Given the description of an element on the screen output the (x, y) to click on. 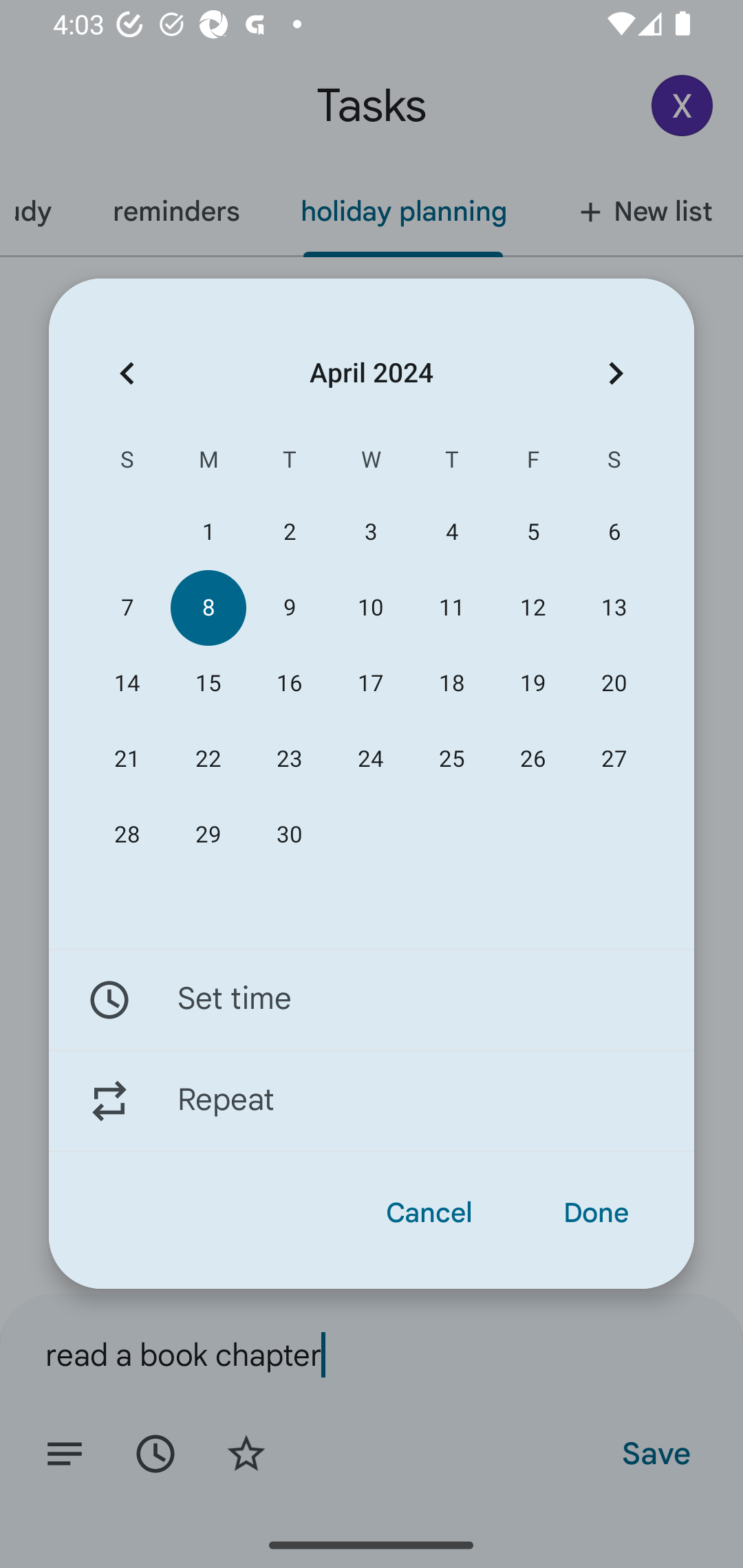
Previous month (126, 372)
Next month (615, 372)
1 01 April 2024 (207, 531)
2 02 April 2024 (288, 531)
3 03 April 2024 (370, 531)
4 04 April 2024 (451, 531)
5 05 April 2024 (532, 531)
6 06 April 2024 (613, 531)
7 07 April 2024 (126, 608)
8 08 April 2024 (207, 608)
9 09 April 2024 (288, 608)
10 10 April 2024 (370, 608)
11 11 April 2024 (451, 608)
12 12 April 2024 (532, 608)
13 13 April 2024 (613, 608)
14 14 April 2024 (126, 683)
15 15 April 2024 (207, 683)
16 16 April 2024 (288, 683)
17 17 April 2024 (370, 683)
18 18 April 2024 (451, 683)
19 19 April 2024 (532, 683)
20 20 April 2024 (613, 683)
21 21 April 2024 (126, 758)
22 22 April 2024 (207, 758)
23 23 April 2024 (288, 758)
24 24 April 2024 (370, 758)
25 25 April 2024 (451, 758)
26 26 April 2024 (532, 758)
27 27 April 2024 (613, 758)
28 28 April 2024 (126, 834)
29 29 April 2024 (207, 834)
30 30 April 2024 (288, 834)
Set time (371, 999)
Repeat (371, 1101)
Cancel (429, 1213)
Done (595, 1213)
